Given the description of an element on the screen output the (x, y) to click on. 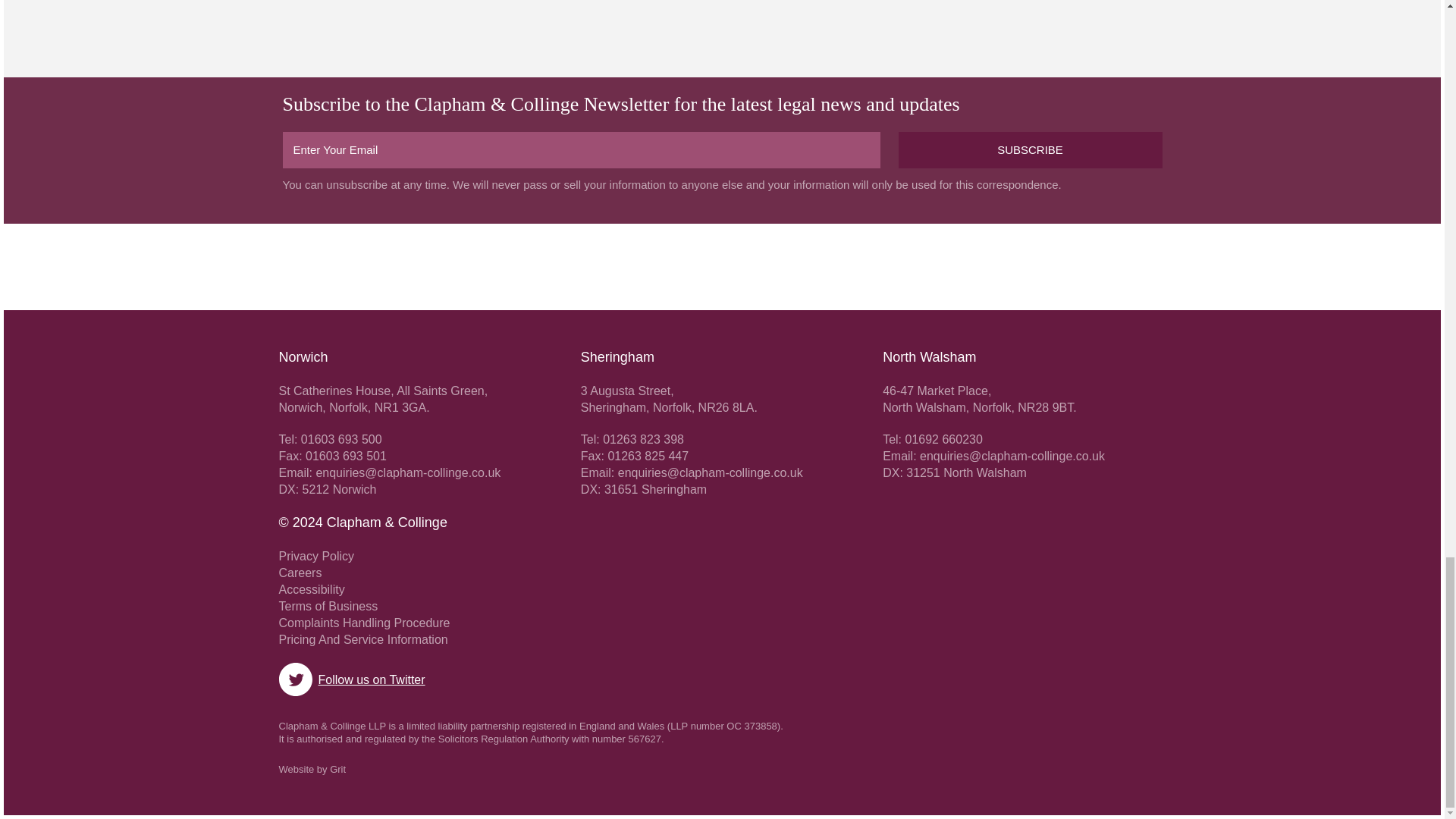
Subscribe (1029, 149)
